Given the description of an element on the screen output the (x, y) to click on. 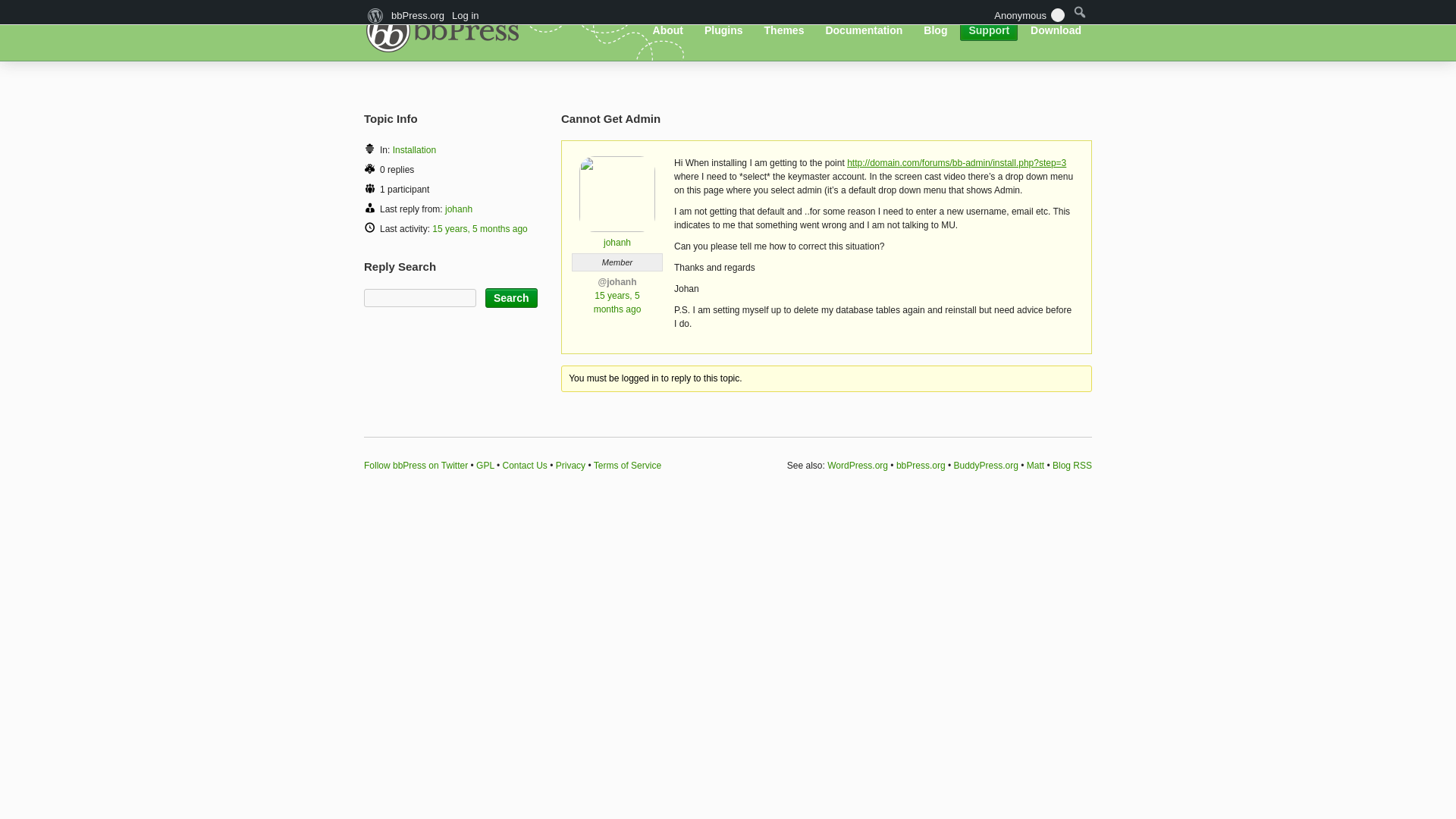
Themes (783, 29)
Plugins (723, 29)
johanh (616, 236)
15 years, 5 months ago (618, 302)
Documentation (863, 29)
15 years, 5 months ago (479, 228)
Support (988, 29)
bbPress.org (447, 29)
johanh (458, 208)
Blog (935, 29)
